Given the description of an element on the screen output the (x, y) to click on. 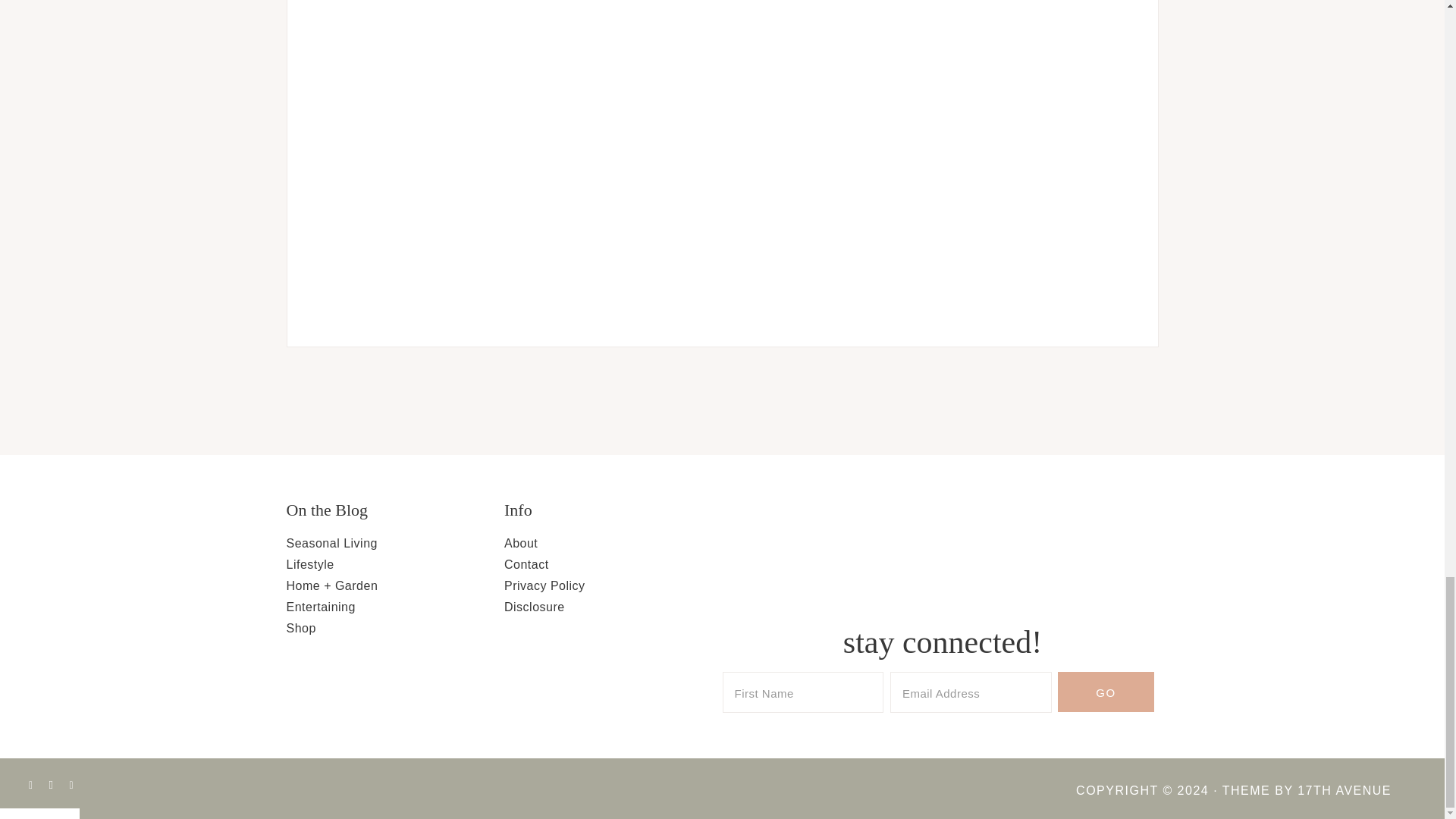
Contact (525, 563)
Shop (300, 627)
Seasonal Living (331, 543)
Go (1106, 691)
Lifestyle (310, 563)
Privacy Policy (544, 585)
Go (1106, 691)
About (520, 543)
Disclosure (533, 606)
Entertaining (320, 606)
